Given the description of an element on the screen output the (x, y) to click on. 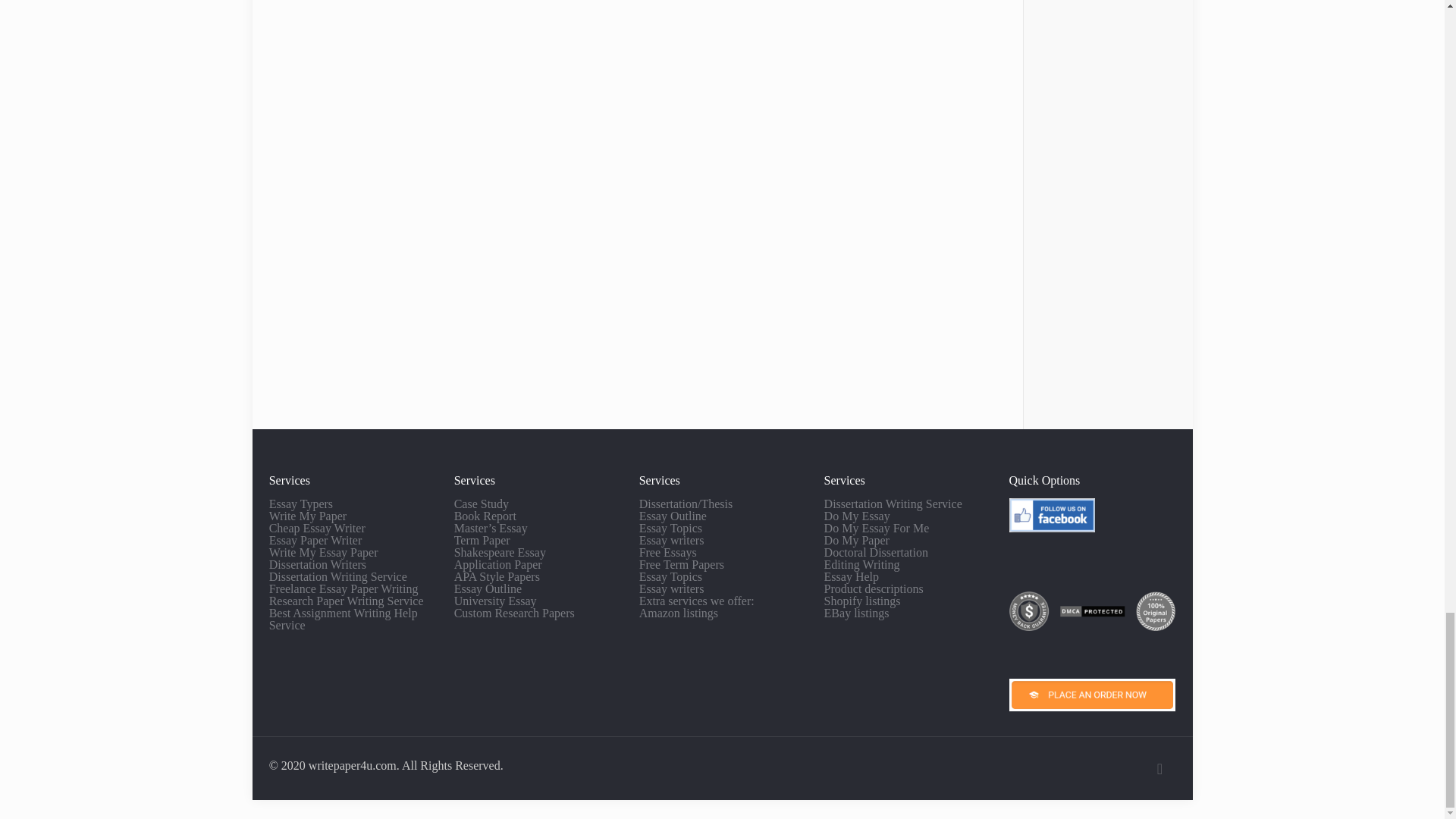
Write My Essay Paper (323, 552)
Cheap Essay Writer (317, 527)
Write My Paper (307, 515)
Book Report (485, 515)
Dissertation Writing Service (338, 576)
Essay Typers (301, 503)
Essay Paper Writer (315, 540)
Research Paper Writing Service (346, 600)
Dissertation Writers (317, 563)
Best Assignment Writing Help Service (343, 618)
